Given the description of an element on the screen output the (x, y) to click on. 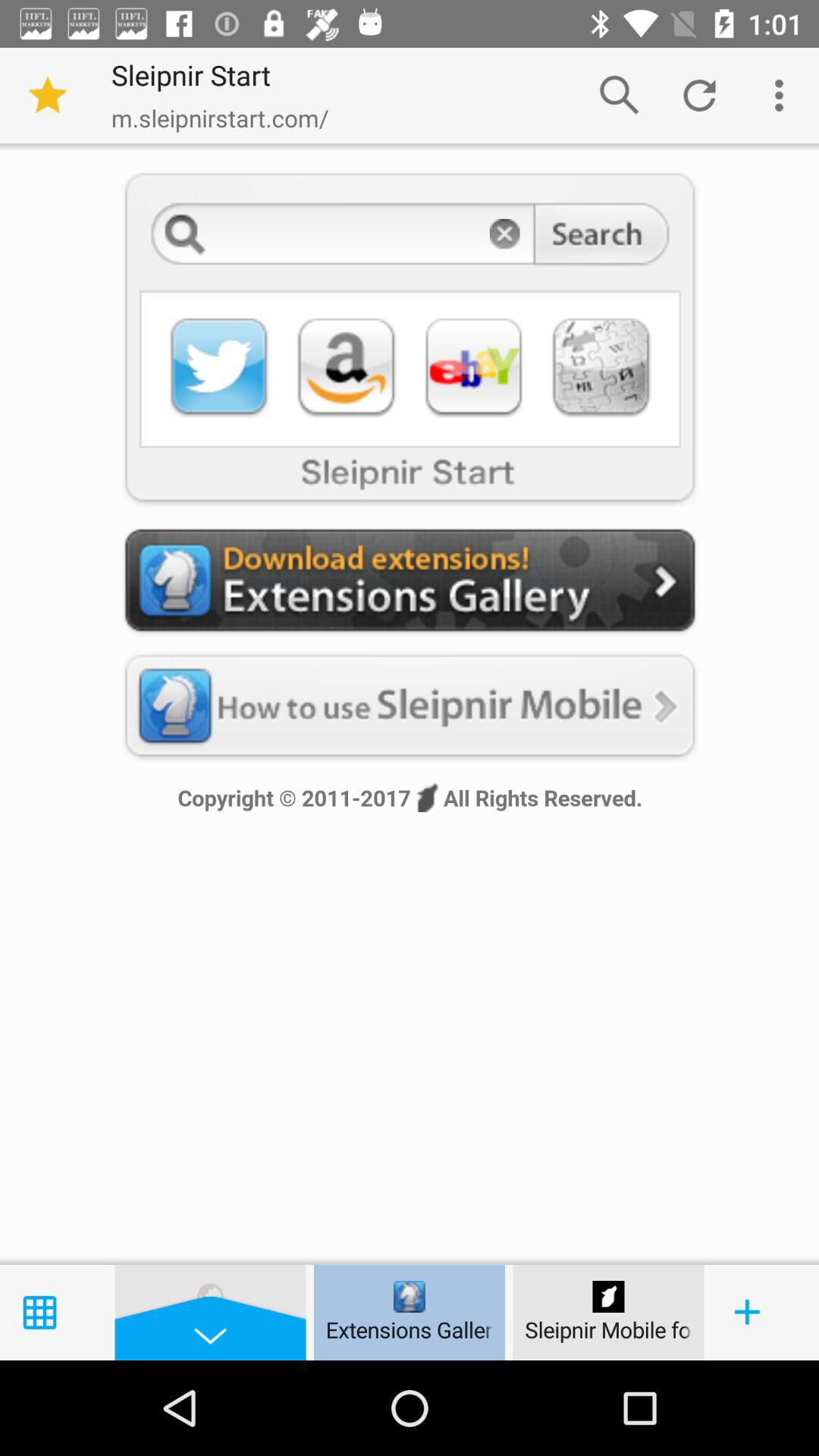
click on the icon to the left of extensions gallery (210, 1297)
click on the bookmark icon (47, 95)
select the left side bottom 2nd box (210, 1312)
